Given the description of an element on the screen output the (x, y) to click on. 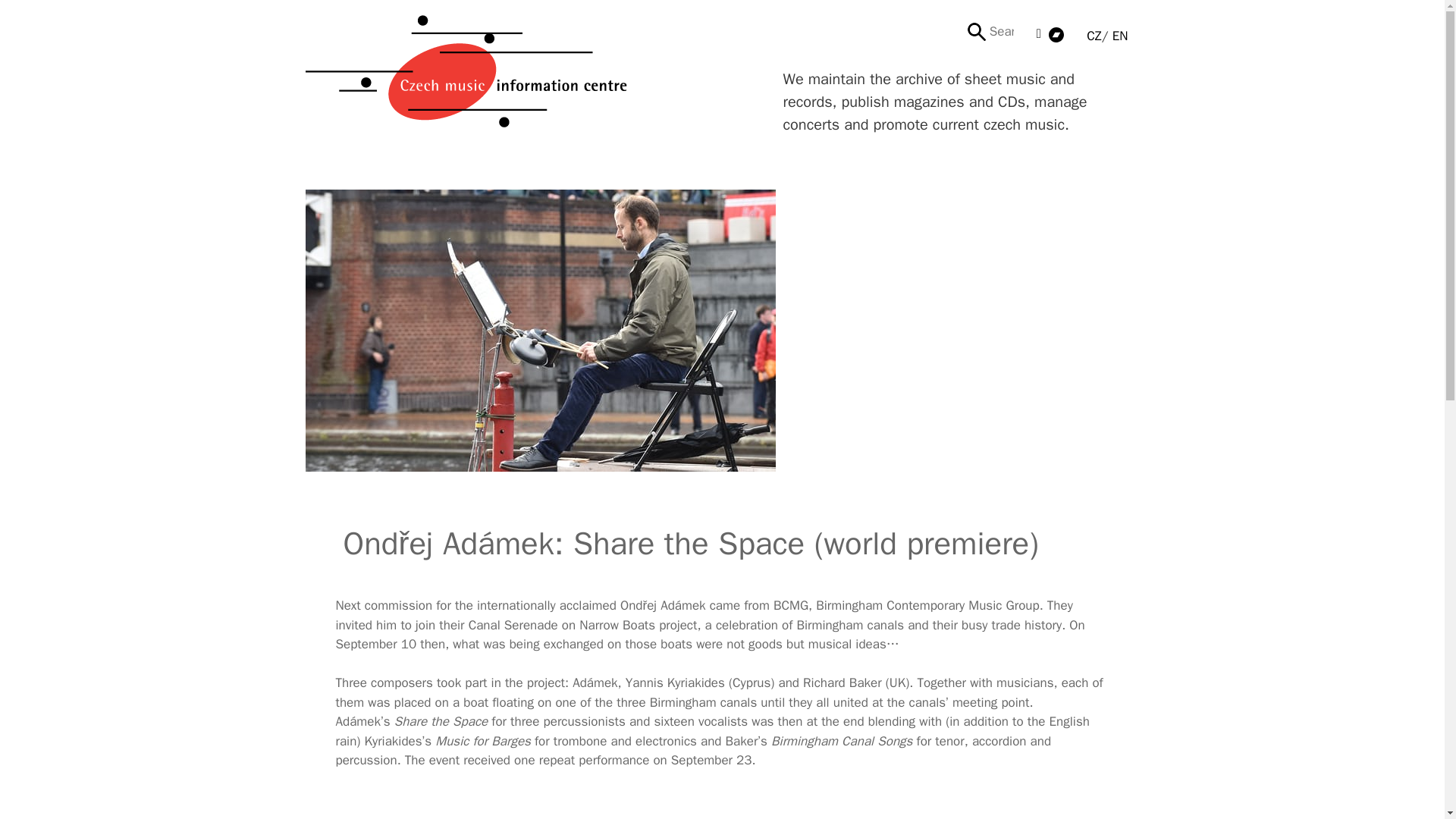
Search for: (994, 31)
Search (35, 18)
EN (1120, 35)
Follow us on Basecamp! (1056, 33)
CZ (1094, 35)
Follow us on Facebook! (1038, 33)
